Given the description of an element on the screen output the (x, y) to click on. 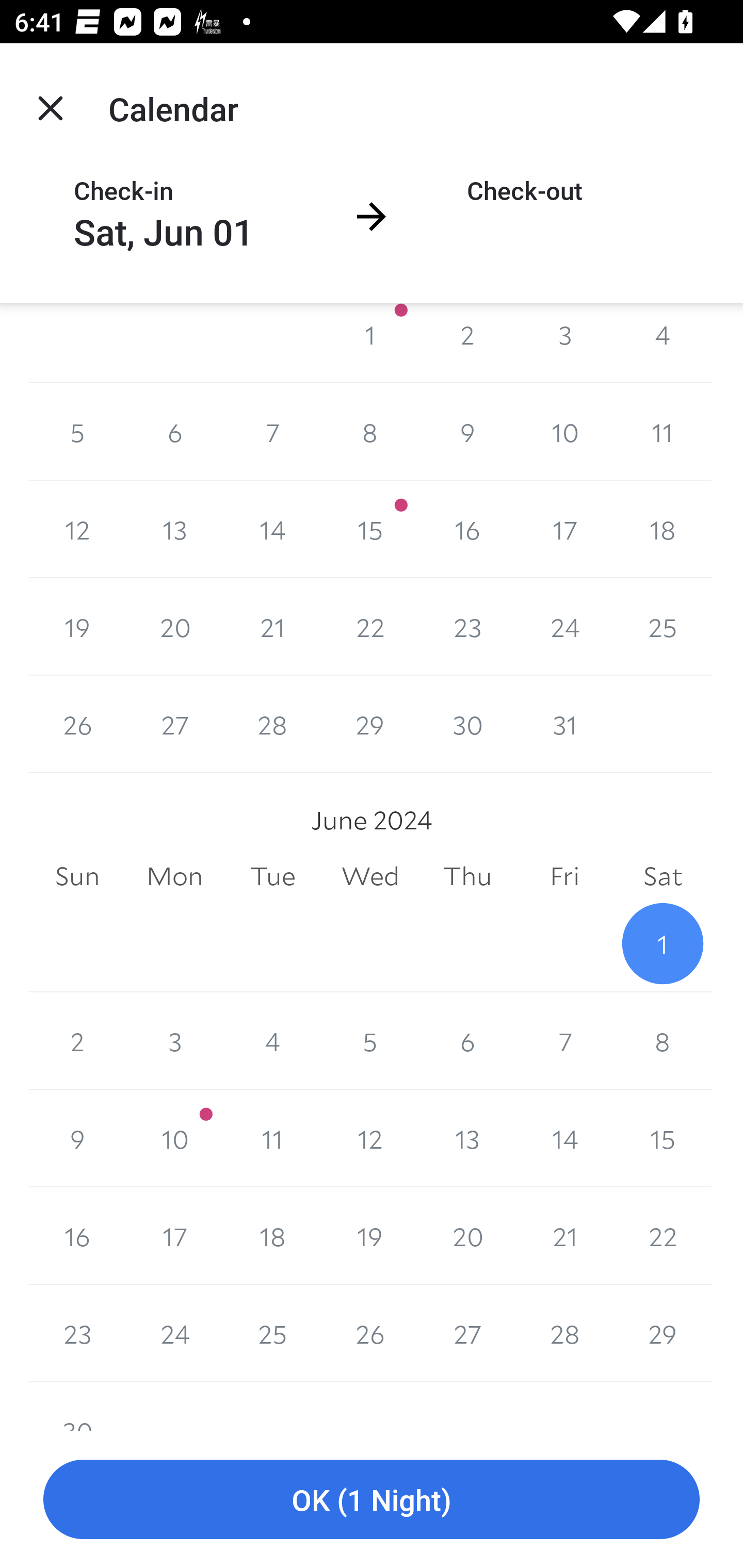
1 1 May 2024 (370, 342)
2 2 May 2024 (467, 342)
3 3 May 2024 (564, 342)
4 4 May 2024 (662, 342)
5 5 May 2024 (77, 431)
6 6 May 2024 (174, 431)
7 7 May 2024 (272, 431)
8 8 May 2024 (370, 431)
9 9 May 2024 (467, 431)
10 10 May 2024 (564, 431)
11 11 May 2024 (662, 431)
12 12 May 2024 (77, 529)
13 13 May 2024 (174, 529)
14 14 May 2024 (272, 529)
15 15 May 2024 (370, 529)
16 16 May 2024 (467, 529)
17 17 May 2024 (564, 529)
18 18 May 2024 (662, 529)
19 19 May 2024 (77, 626)
20 20 May 2024 (174, 626)
21 21 May 2024 (272, 626)
22 22 May 2024 (370, 626)
23 23 May 2024 (467, 626)
24 24 May 2024 (564, 626)
25 25 May 2024 (662, 626)
26 26 May 2024 (77, 724)
27 27 May 2024 (174, 724)
28 28 May 2024 (272, 724)
29 29 May 2024 (370, 724)
30 30 May 2024 (467, 724)
31 31 May 2024 (564, 724)
Sun (77, 876)
Mon (174, 876)
Tue (272, 876)
Wed (370, 876)
Thu (467, 876)
Fri (564, 876)
Sat (662, 876)
1 1 June 2024 (662, 943)
2 2 June 2024 (77, 1040)
3 3 June 2024 (174, 1040)
4 4 June 2024 (272, 1040)
5 5 June 2024 (370, 1040)
6 6 June 2024 (467, 1040)
7 7 June 2024 (564, 1040)
8 8 June 2024 (662, 1040)
9 9 June 2024 (77, 1137)
10 10 June 2024 (174, 1137)
11 11 June 2024 (272, 1137)
